Given the description of an element on the screen output the (x, y) to click on. 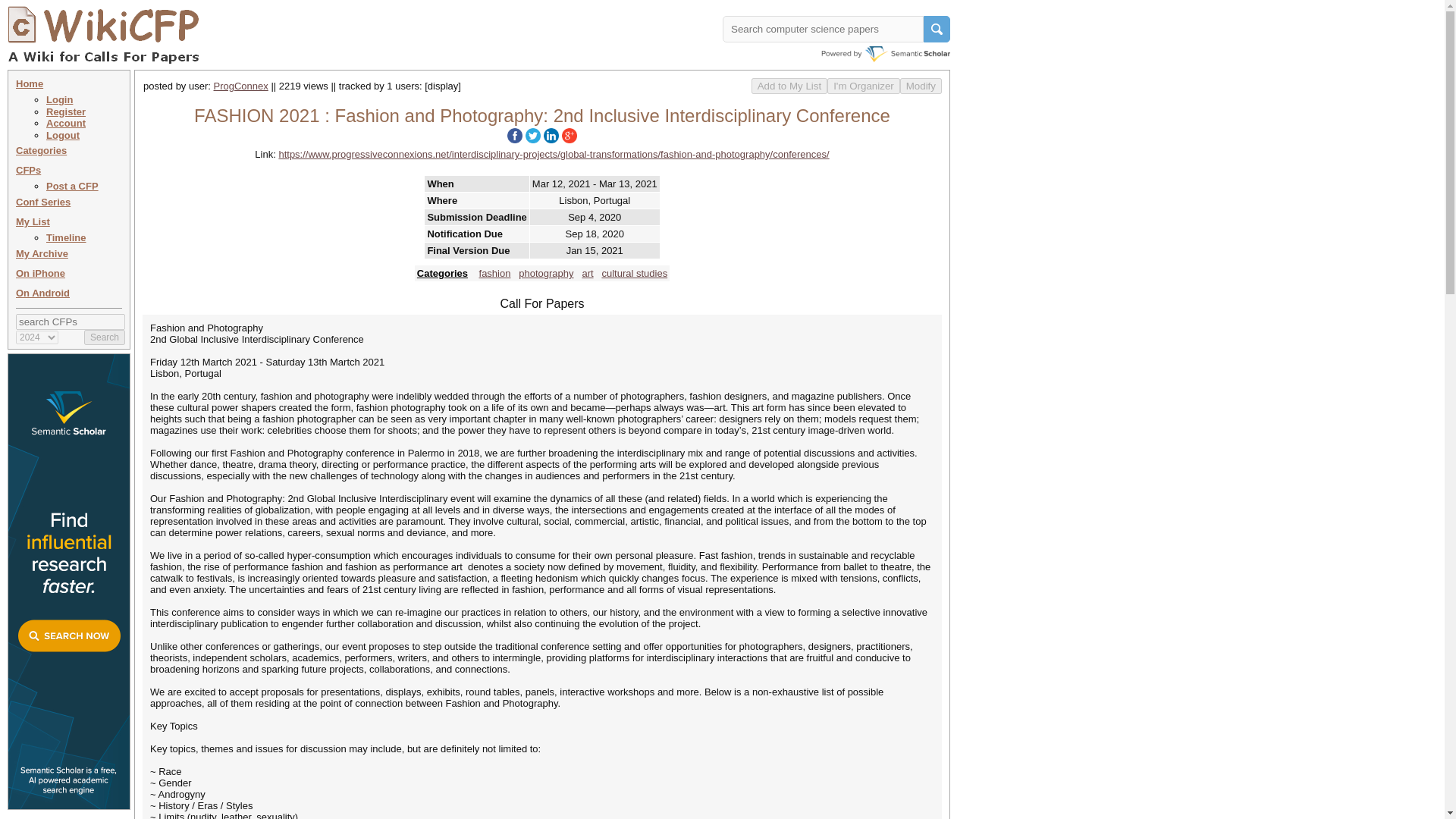
My List (32, 221)
Modify (920, 85)
Register (65, 111)
I'm Organizer (863, 85)
My Archive (42, 253)
cultural studies (633, 273)
Categories (41, 150)
Logout (63, 134)
On Android (42, 292)
Modify (920, 85)
ProgConnex (240, 85)
fashion (495, 273)
display (443, 85)
Search (104, 337)
I'm Organizer (863, 85)
